Given the description of an element on the screen output the (x, y) to click on. 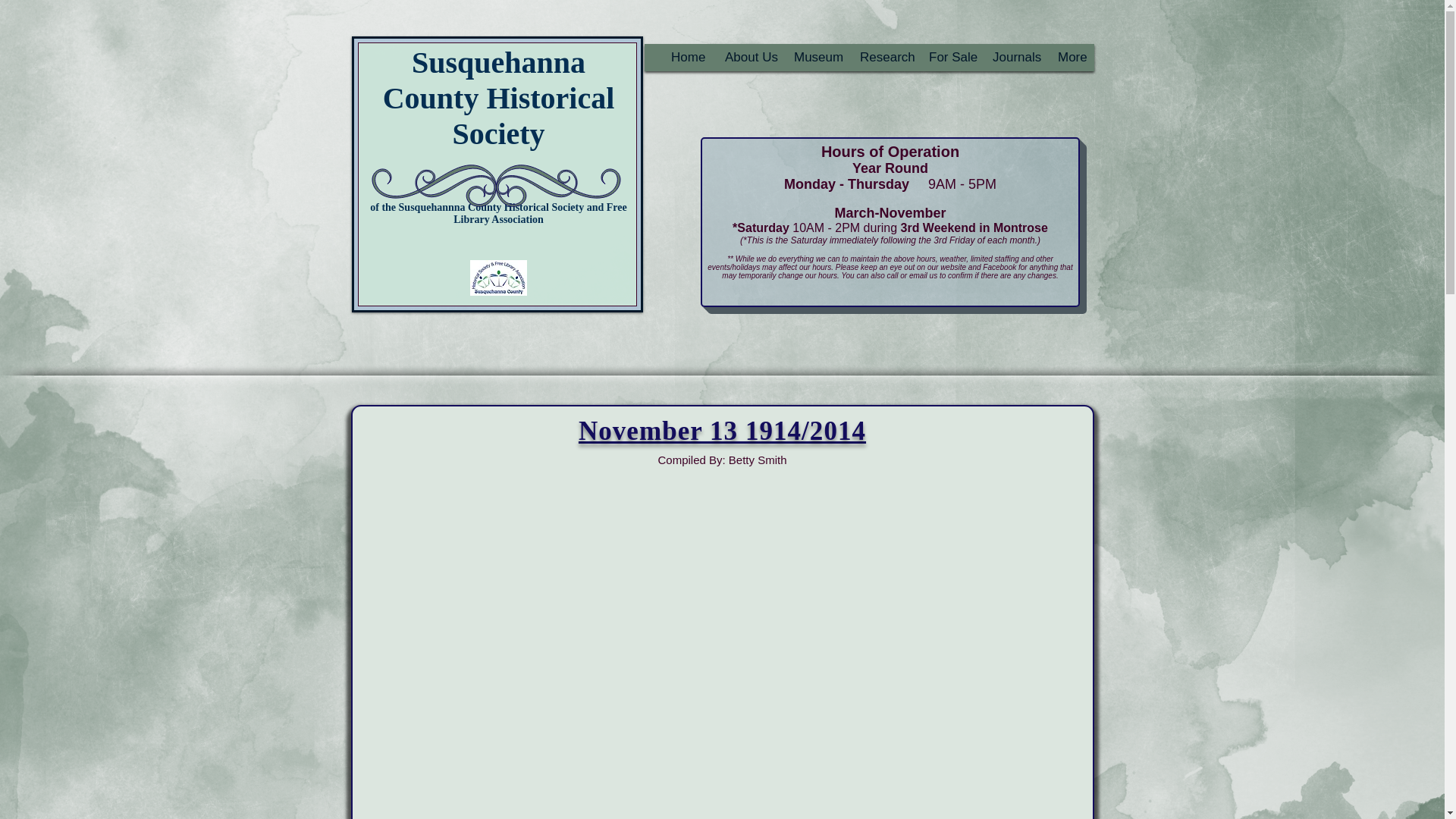
Susquehanna County Historical Society (498, 97)
Museum (811, 57)
About Us (745, 57)
Home (683, 57)
For Sale (946, 57)
Journals (1010, 57)
